Given the description of an element on the screen output the (x, y) to click on. 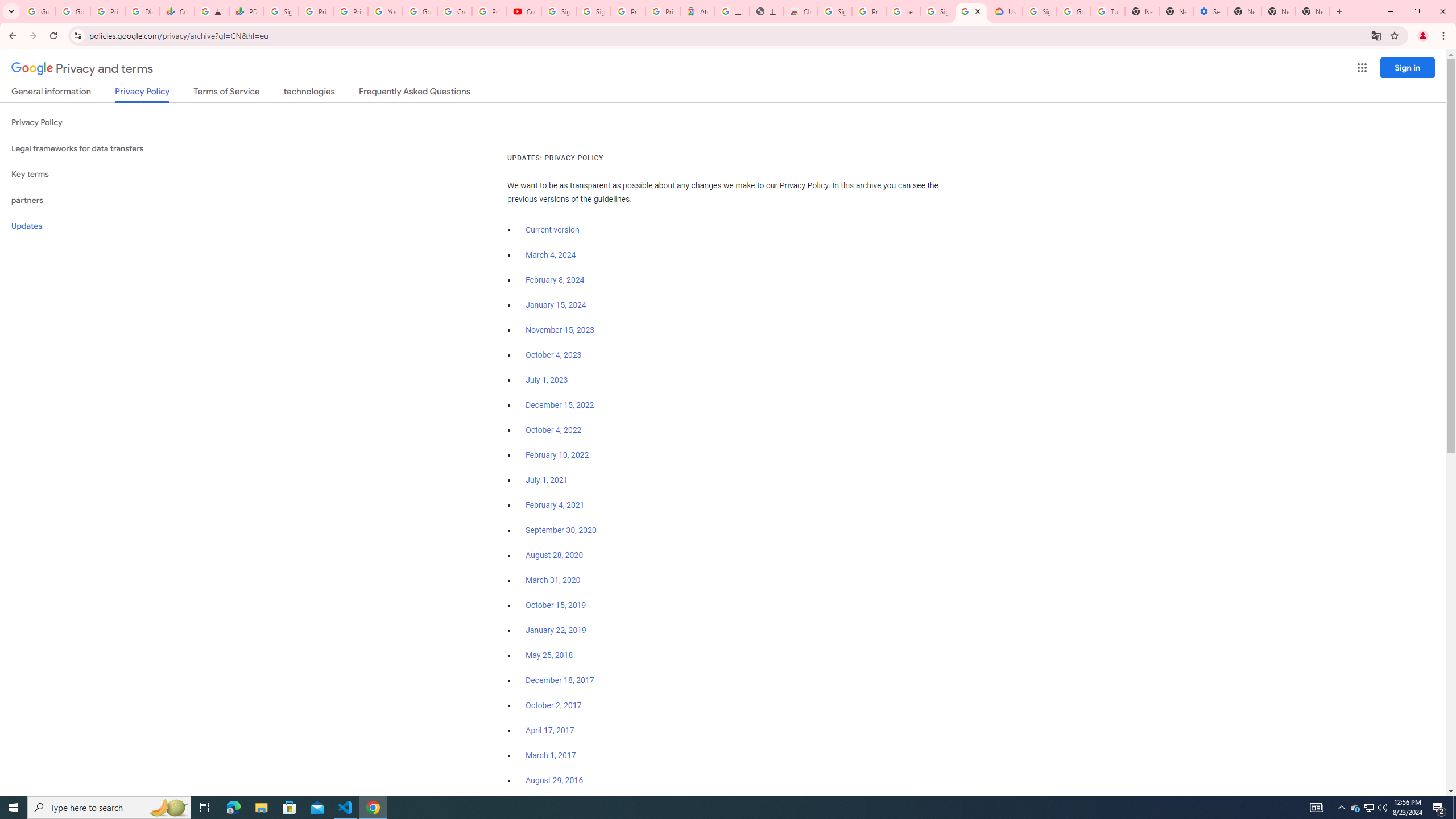
Current version (552, 230)
December 18, 2017 (559, 679)
December 15, 2022 (559, 405)
Sign in - Google Accounts (834, 11)
Google Workspace Admin Community (38, 11)
Frequently Asked Questions (414, 93)
